Given the description of an element on the screen output the (x, y) to click on. 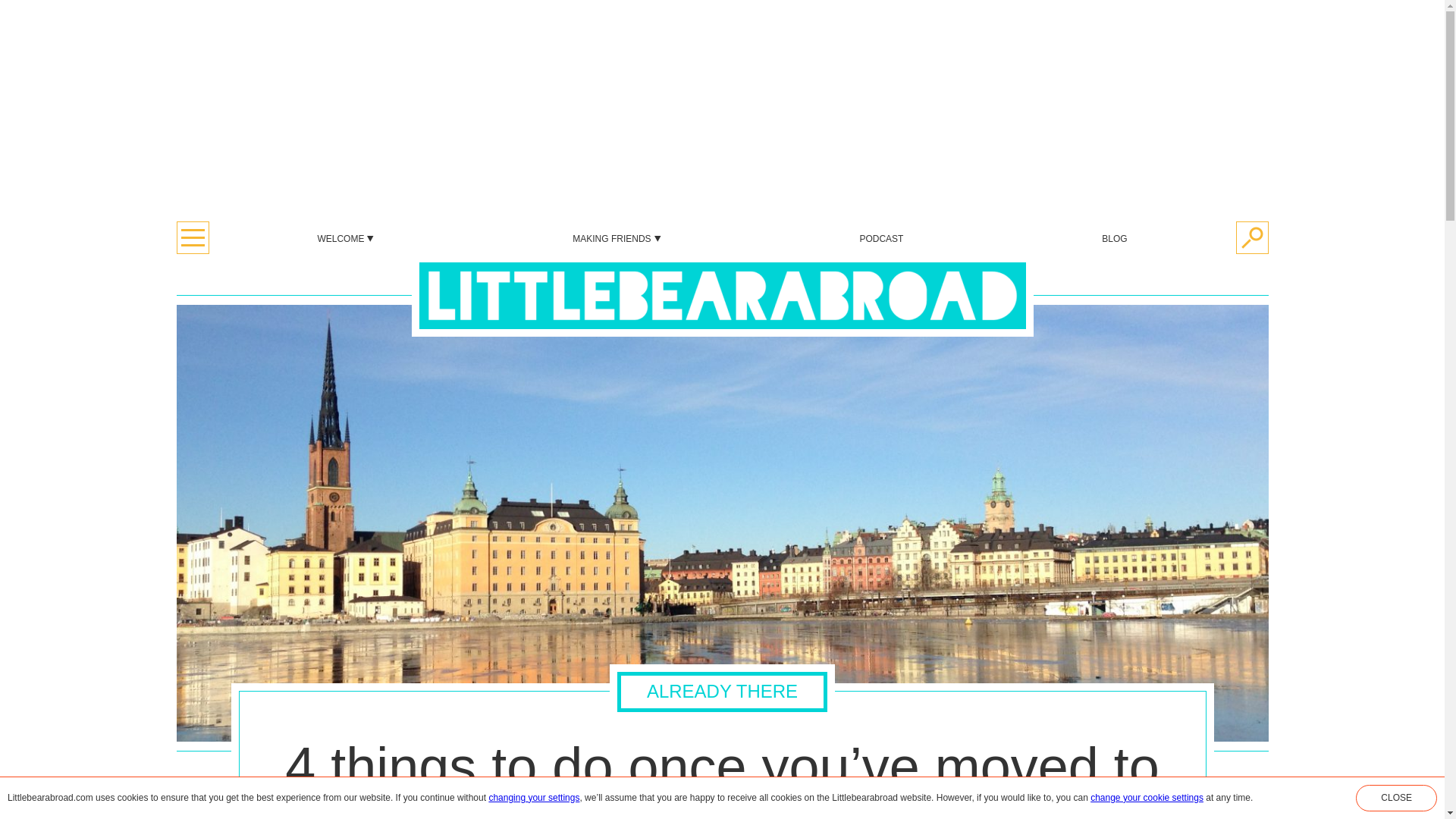
ALREADY THERE (722, 718)
WELCOME (345, 238)
PODCAST (880, 238)
MAKING FRIENDS (616, 238)
BLOG (1114, 238)
